Given the description of an element on the screen output the (x, y) to click on. 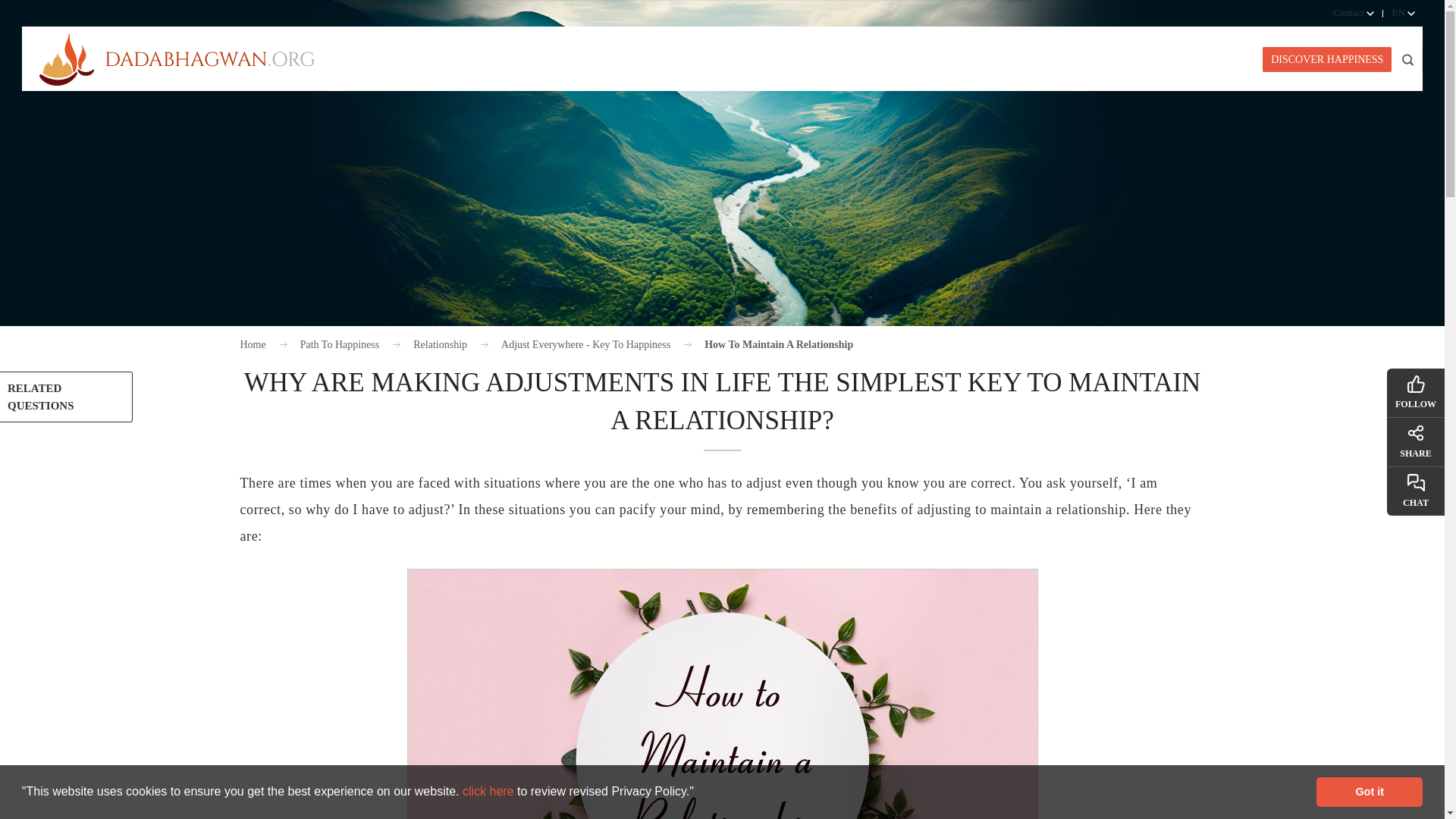
Privacy Policy (489, 790)
Got it (1369, 791)
click here (489, 790)
